Given the description of an element on the screen output the (x, y) to click on. 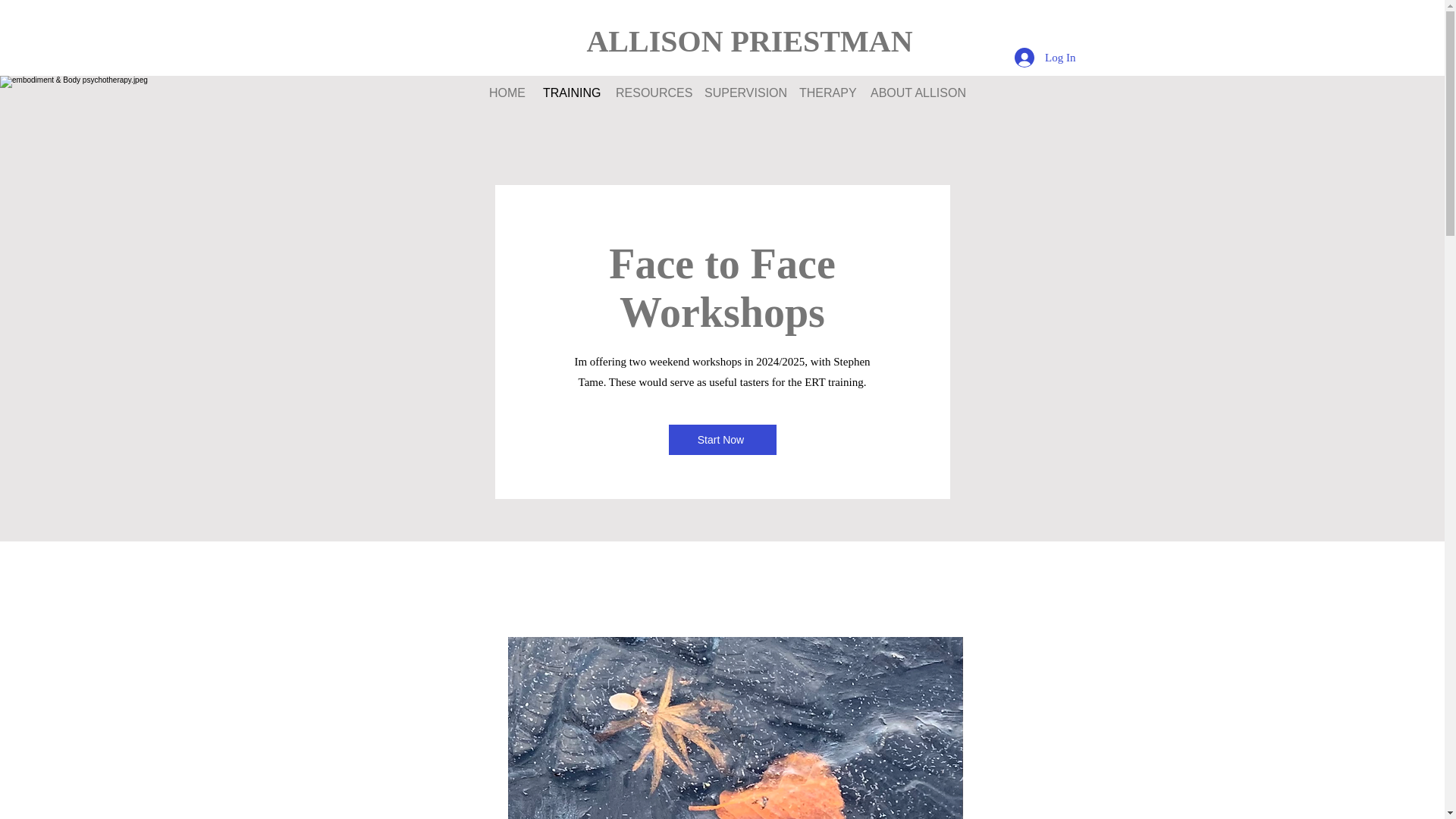
SUPERVISION (740, 92)
RESOURCES (648, 92)
TRAINING (567, 92)
Log In (1045, 57)
THERAPY (823, 92)
ALLISON PRIESTMAN (749, 41)
ABOUT ALLISON (912, 92)
Start Now (722, 440)
HOME (504, 92)
